Given the description of an element on the screen output the (x, y) to click on. 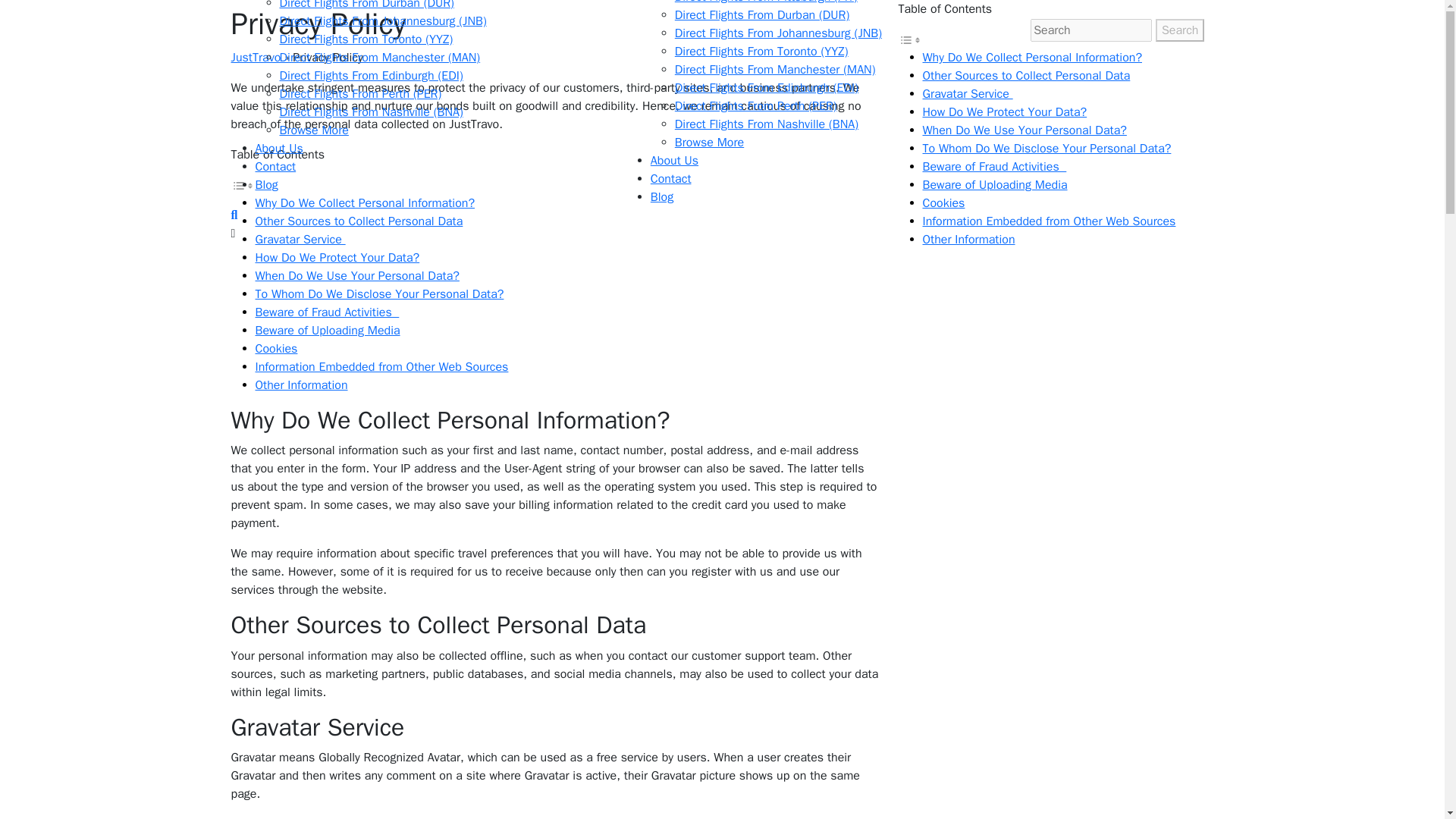
Beware of Uploading Media (326, 330)
Contact (670, 178)
Browse More (709, 142)
How Do We Protect Your Data? (1003, 111)
Blog (661, 196)
Why Do We Collect Personal Information? (364, 202)
Cookies (275, 348)
Other Sources to Collect Personal Data (358, 221)
